Given the description of an element on the screen output the (x, y) to click on. 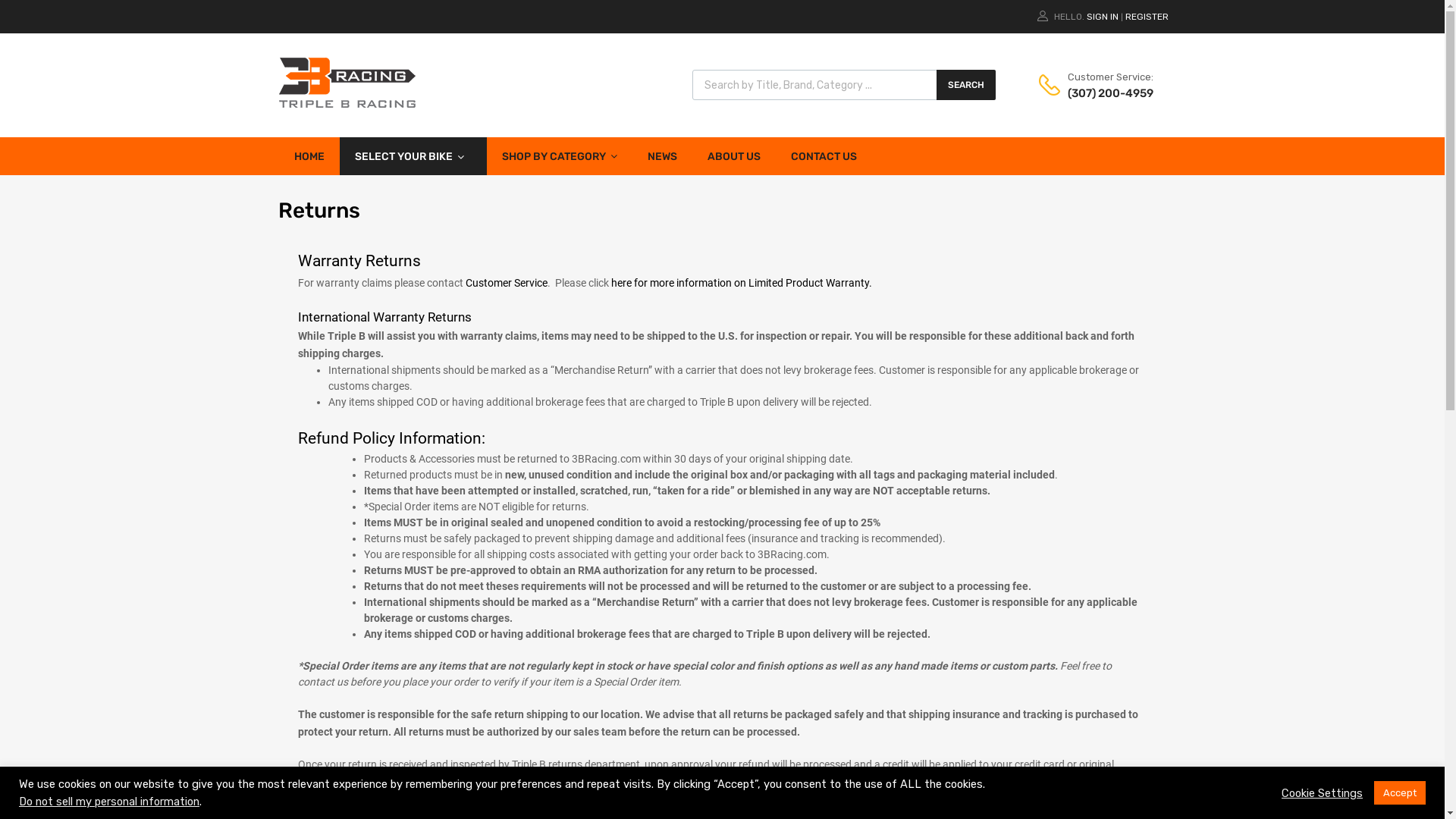
CONTACT US Element type: text (823, 156)
Do not sell my personal information Element type: text (108, 801)
Register Element type: text (795, 469)
Accept Element type: text (1399, 792)
REGISTER Element type: text (1146, 16)
here for more information on Limited Product Warranty Element type: text (740, 282)
Cookie Settings Element type: text (1321, 792)
Triple B Racing Element type: hover (347, 103)
. Element type: text (870, 282)
ABOUT US Element type: text (733, 156)
SIGN IN Element type: text (1101, 16)
SHOP BY CATEGORY Element type: text (559, 156)
SEARCH Element type: text (964, 84)
SELECT YOUR BIKE Element type: text (412, 156)
Login Element type: text (799, 432)
(307) 200-4959 Element type: text (1104, 93)
Customer Service Element type: text (506, 282)
HOME Element type: text (309, 156)
NEWS Element type: text (662, 156)
